Given the description of an element on the screen output the (x, y) to click on. 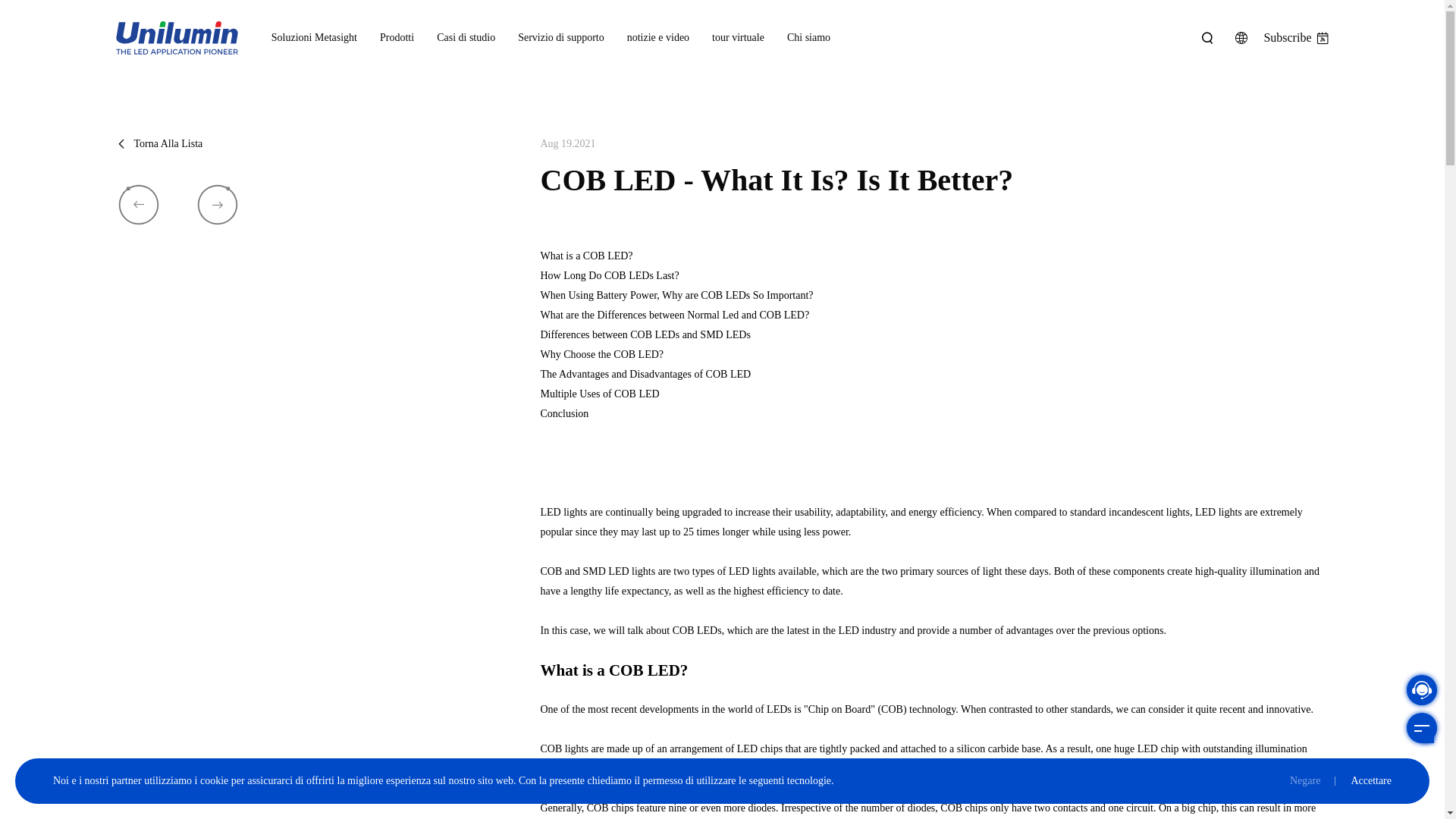
Prodotti (396, 37)
notizie e video (657, 37)
tour virtuale (737, 37)
Servizio di supporto (561, 37)
Casi di studio (465, 37)
Chi siamo (808, 37)
Soluzioni Metasight (313, 37)
Subscribe (1295, 37)
